Given the description of an element on the screen output the (x, y) to click on. 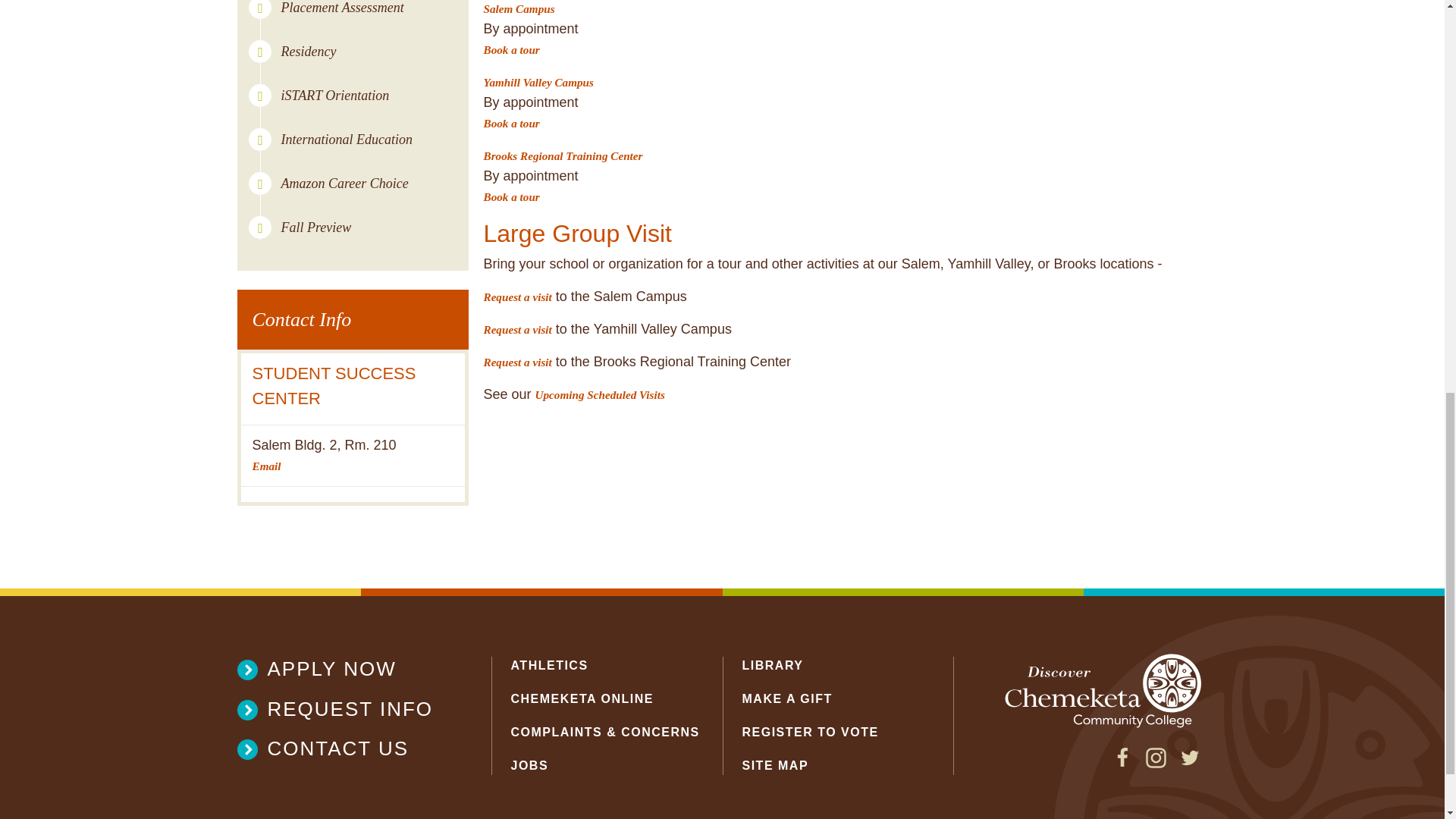
Twitter (1189, 763)
Instagram (1155, 763)
Apply Now (343, 668)
Contact Us (343, 748)
Facebook (1122, 763)
Request Info (343, 708)
